Given the description of an element on the screen output the (x, y) to click on. 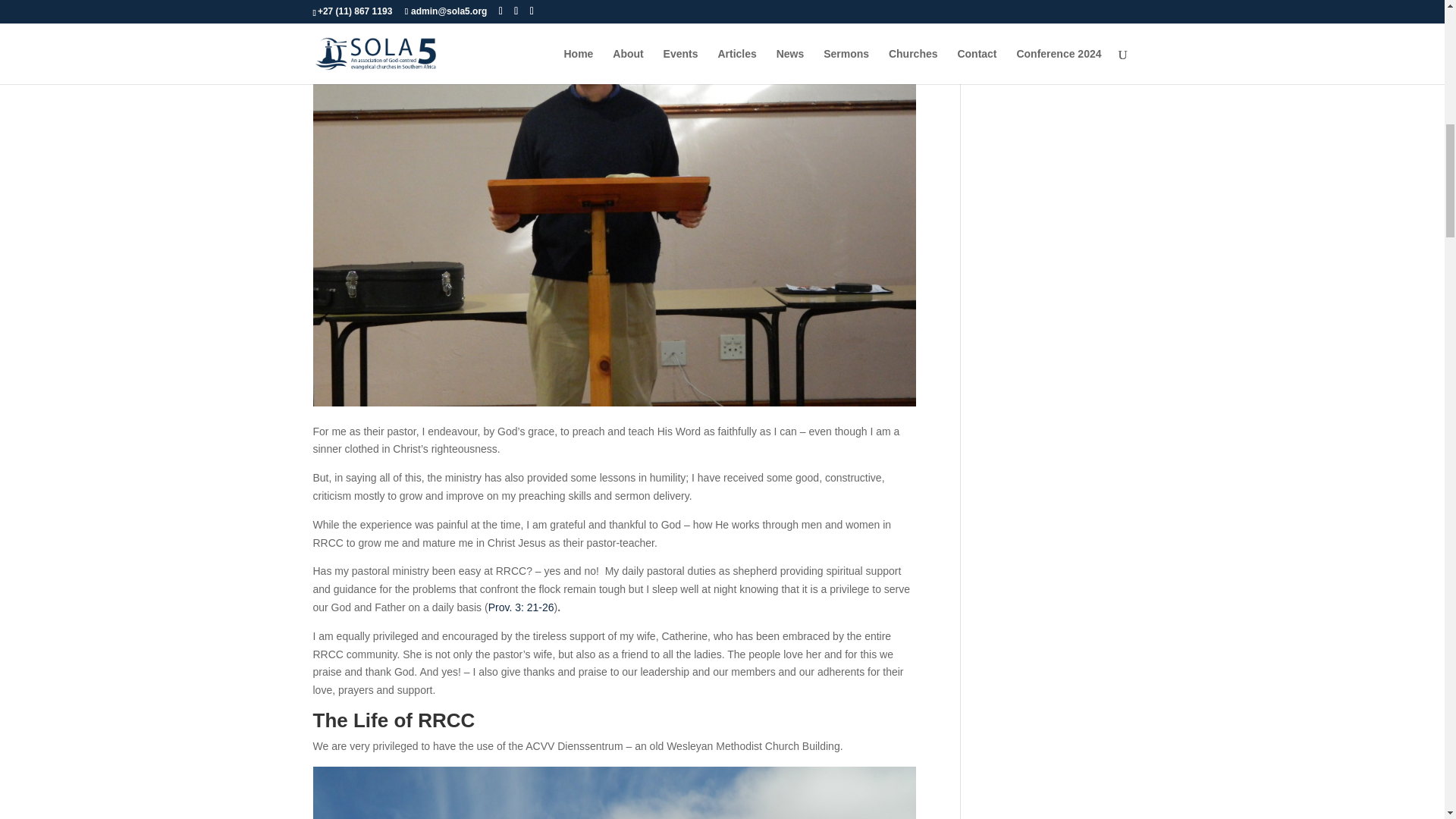
Prov. 3: 21-26 (520, 607)
